Given the description of an element on the screen output the (x, y) to click on. 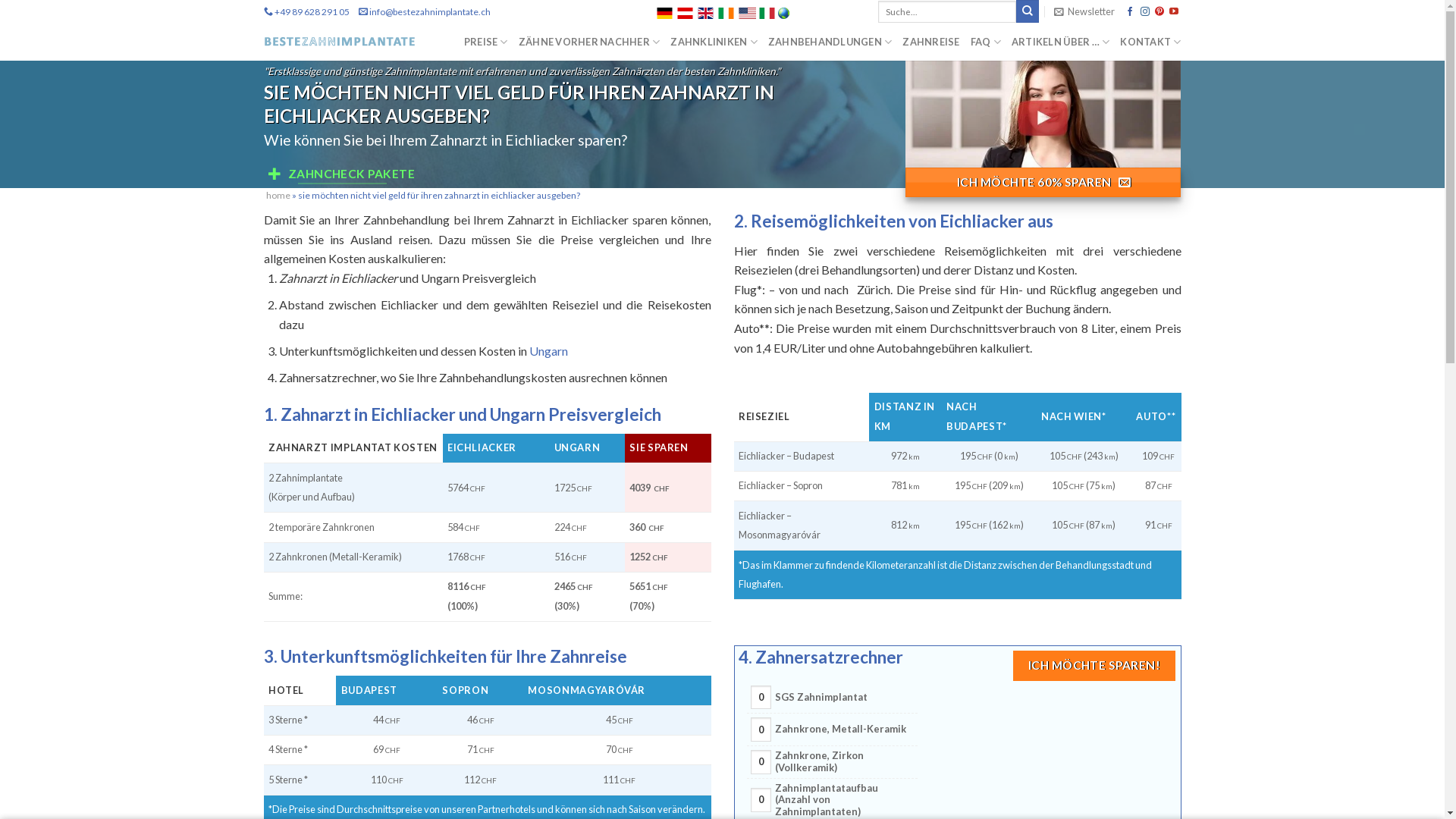
ZAHNBEHANDLUNGEN Element type: text (830, 41)
Folge uns auf Instagram Element type: hover (1144, 11)
Folge uns auf Youtube Element type: hover (1173, 11)
Dental implants overseas Element type: hover (746, 12)
ZAHNKLINIKEN Element type: text (713, 41)
ZAHNREISE Element type: text (930, 41)
Newsletter Element type: text (1084, 11)
Our Dental Implants website in Ireland Element type: hover (725, 10)
Zahnimplantate deutsche Webseite Element type: hover (664, 10)
Dental implants England website Element type: hover (705, 12)
FAQ Element type: text (985, 41)
Dental implants England website Element type: hover (705, 10)
ZAHNCHECK PAKETE Element type: text (341, 173)
PREISE Element type: text (486, 41)
KONTAKT Element type: text (1150, 41)
Dental implants Budapest Element type: hover (783, 10)
Folge uns auf Facebook Element type: hover (1129, 11)
Folge uns auf Pinterest Element type: hover (1159, 11)
Impianti dentali Italia Element type: hover (766, 10)
Dental implants overseas Element type: hover (746, 10)
Impianti dentali Italia Element type: hover (766, 12)
Zahnimplantate deutsche Webseite Element type: hover (664, 12)
Dental Implants Worldwide Element type: hover (783, 12)
info@bestezahnimplantate.ch Element type: text (428, 11)
home Element type: text (277, 194)
Ungarn Element type: text (548, 350)
Our Dental Implants website in Ireland Element type: hover (725, 12)
